Given the description of an element on the screen output the (x, y) to click on. 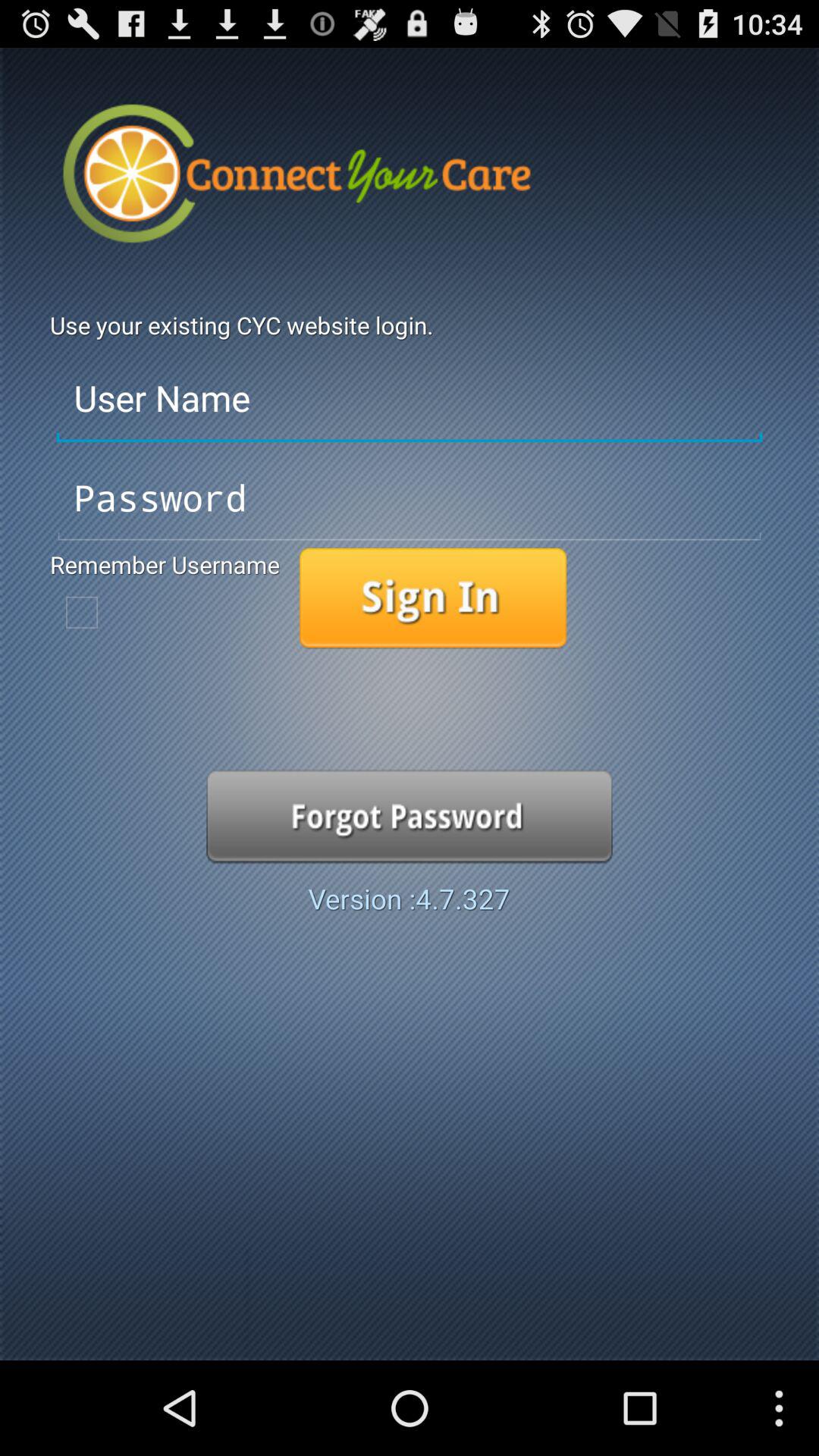
remember username (81, 612)
